Given the description of an element on the screen output the (x, y) to click on. 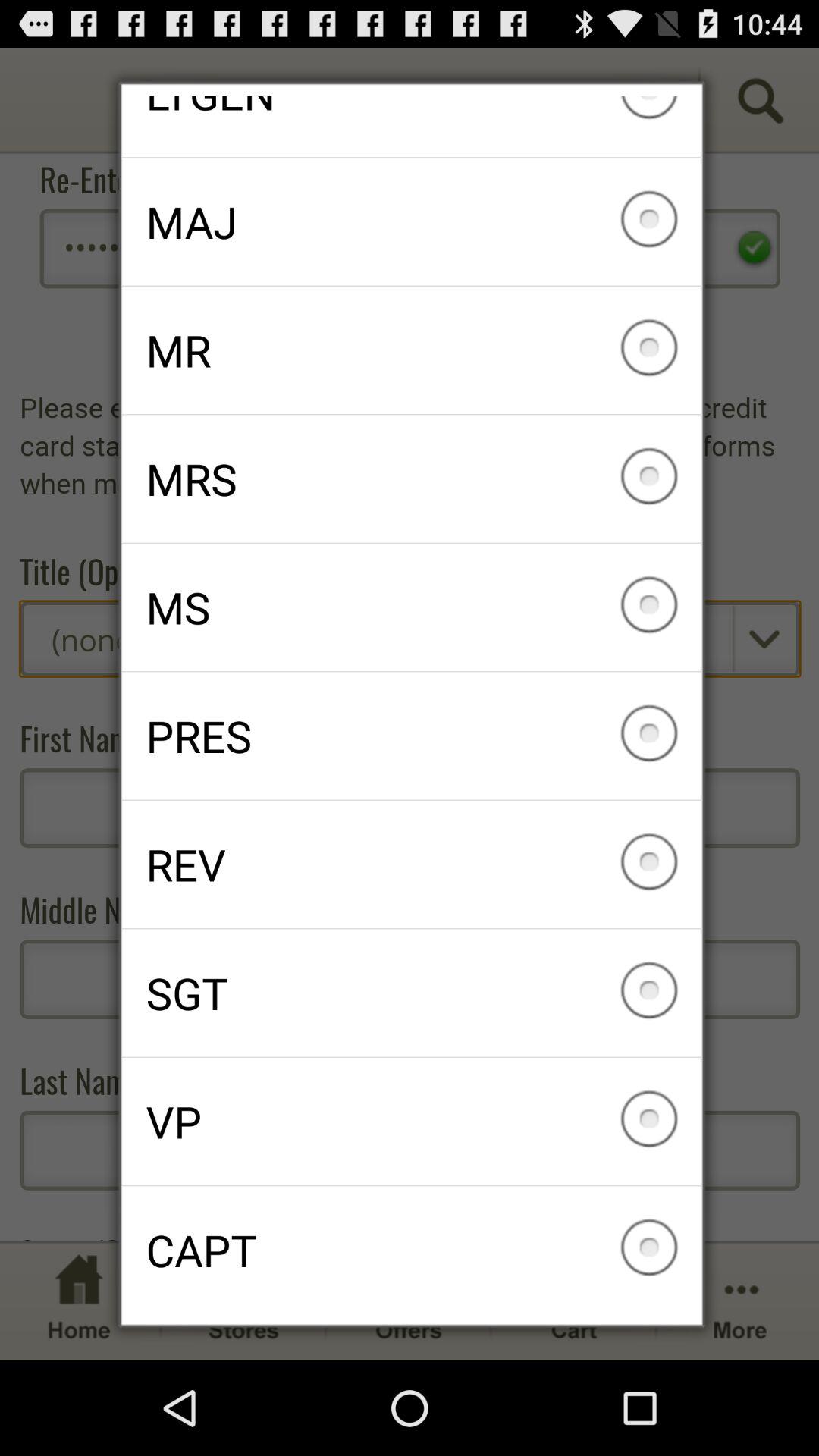
click item above the pres icon (411, 607)
